Given the description of an element on the screen output the (x, y) to click on. 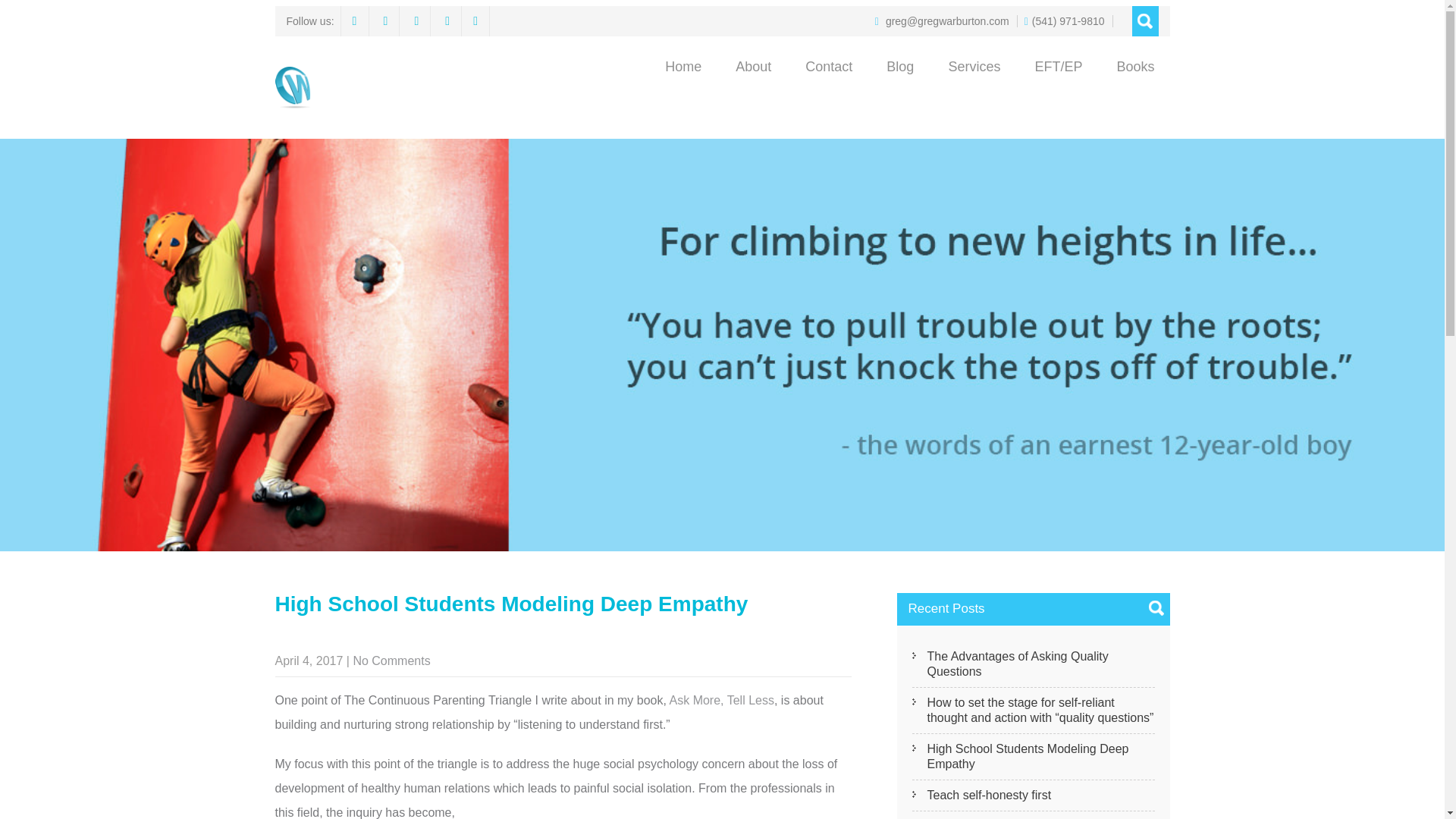
Books (1134, 66)
Teach self-honesty first (1032, 795)
twitter (384, 20)
About (753, 66)
Contact (828, 66)
flickr (447, 20)
rss (475, 20)
No Comments (390, 660)
Ask More, Tell Less (721, 699)
Services (973, 66)
Blog (899, 66)
facebook (354, 20)
youtube (416, 20)
High School Students Modeling Deep Empathy (1032, 756)
